Given the description of an element on the screen output the (x, y) to click on. 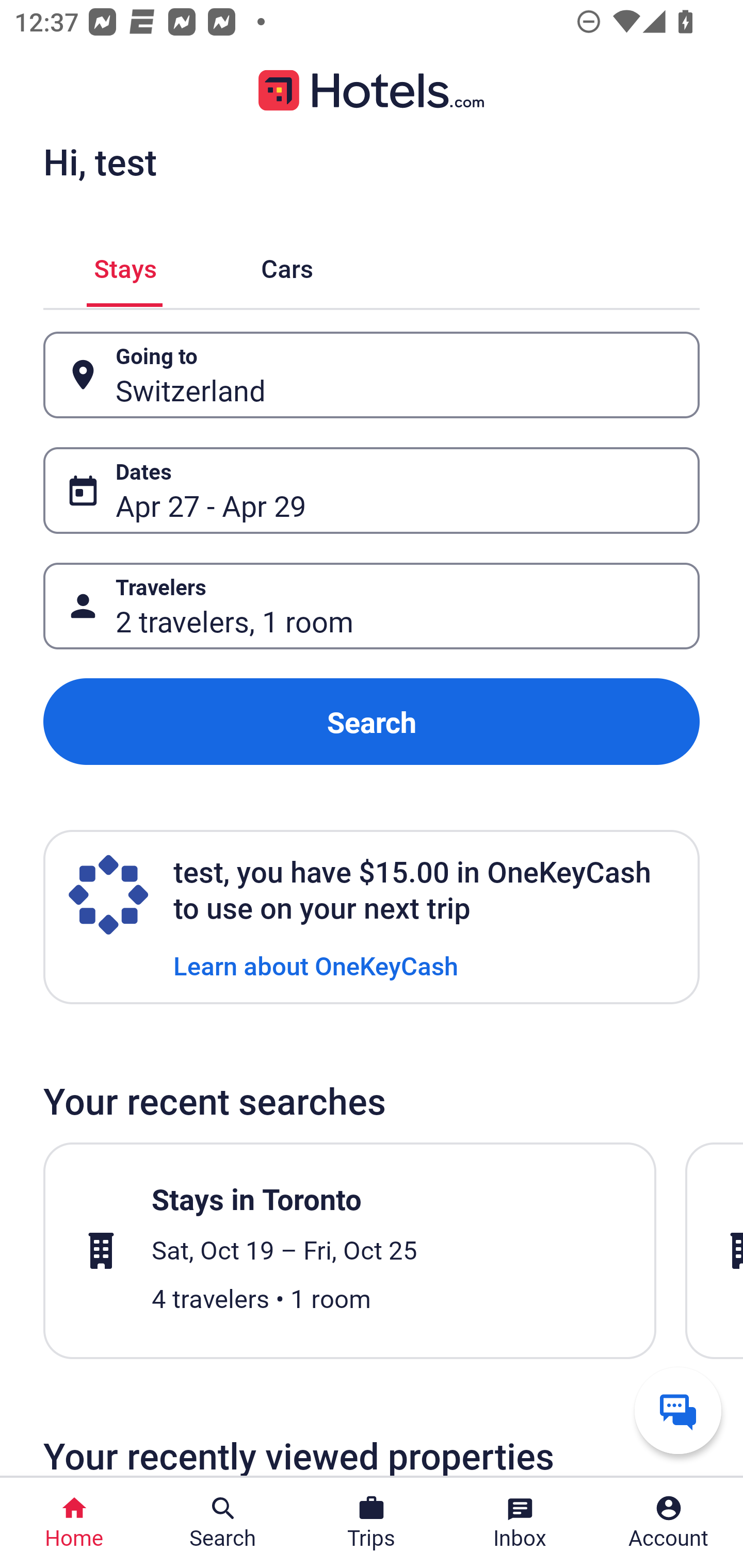
Hi, test (99, 161)
Cars (286, 265)
Going to Button Switzerland (371, 375)
Dates Button Apr 27 - Apr 29 (371, 489)
Travelers Button 2 travelers, 1 room (371, 605)
Search (371, 721)
Learn about OneKeyCash Learn about OneKeyCash Link (315, 964)
Get help from a virtual agent (677, 1410)
Search Search Button (222, 1522)
Trips Trips Button (371, 1522)
Inbox Inbox Button (519, 1522)
Account Profile. Button (668, 1522)
